Given the description of an element on the screen output the (x, y) to click on. 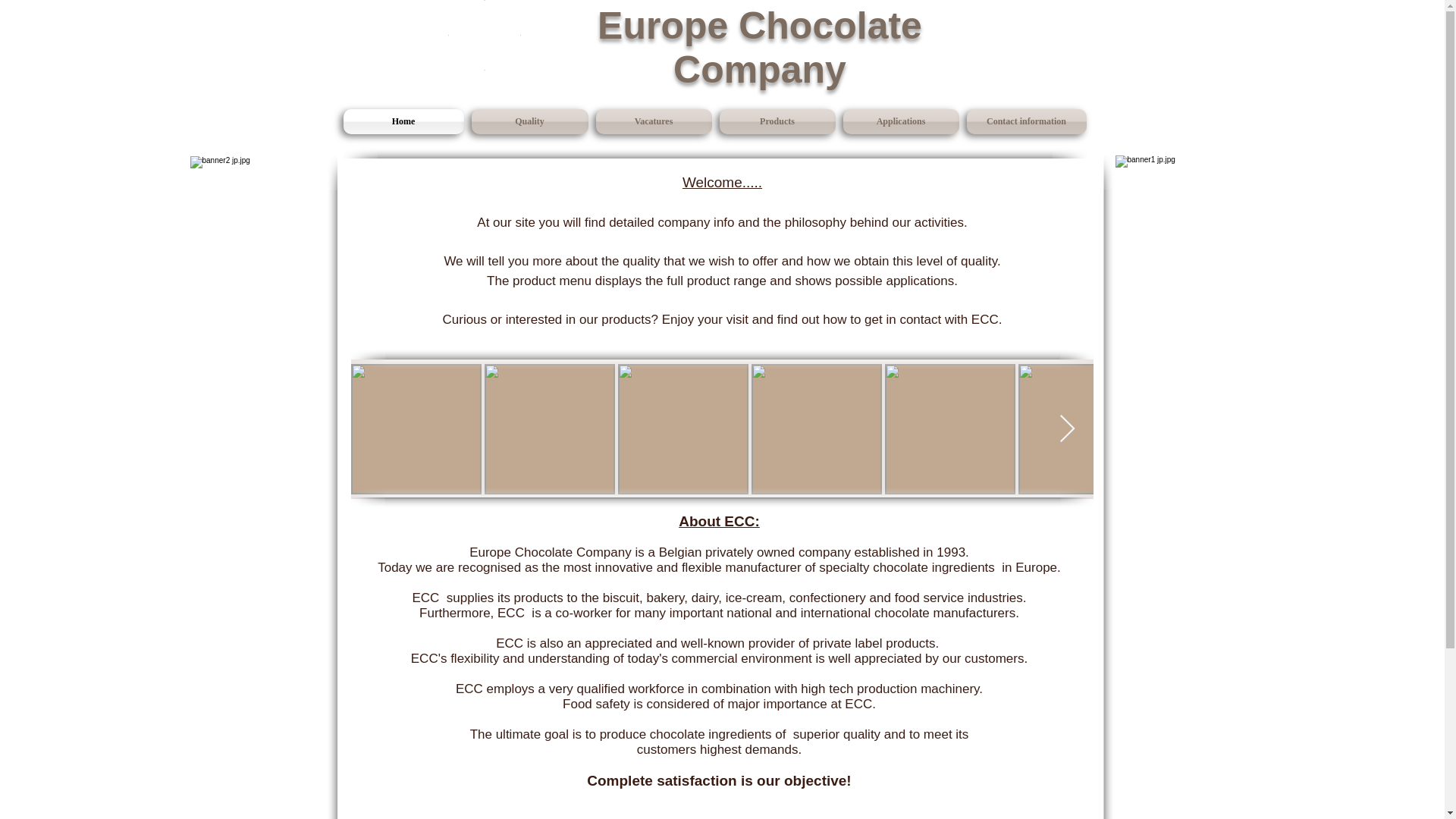
Europe Chocolate Company (758, 47)
Vacatures (652, 121)
Contact information (1024, 121)
Products (778, 121)
Applications (900, 121)
Quality (529, 121)
Home (404, 121)
